Given the description of an element on the screen output the (x, y) to click on. 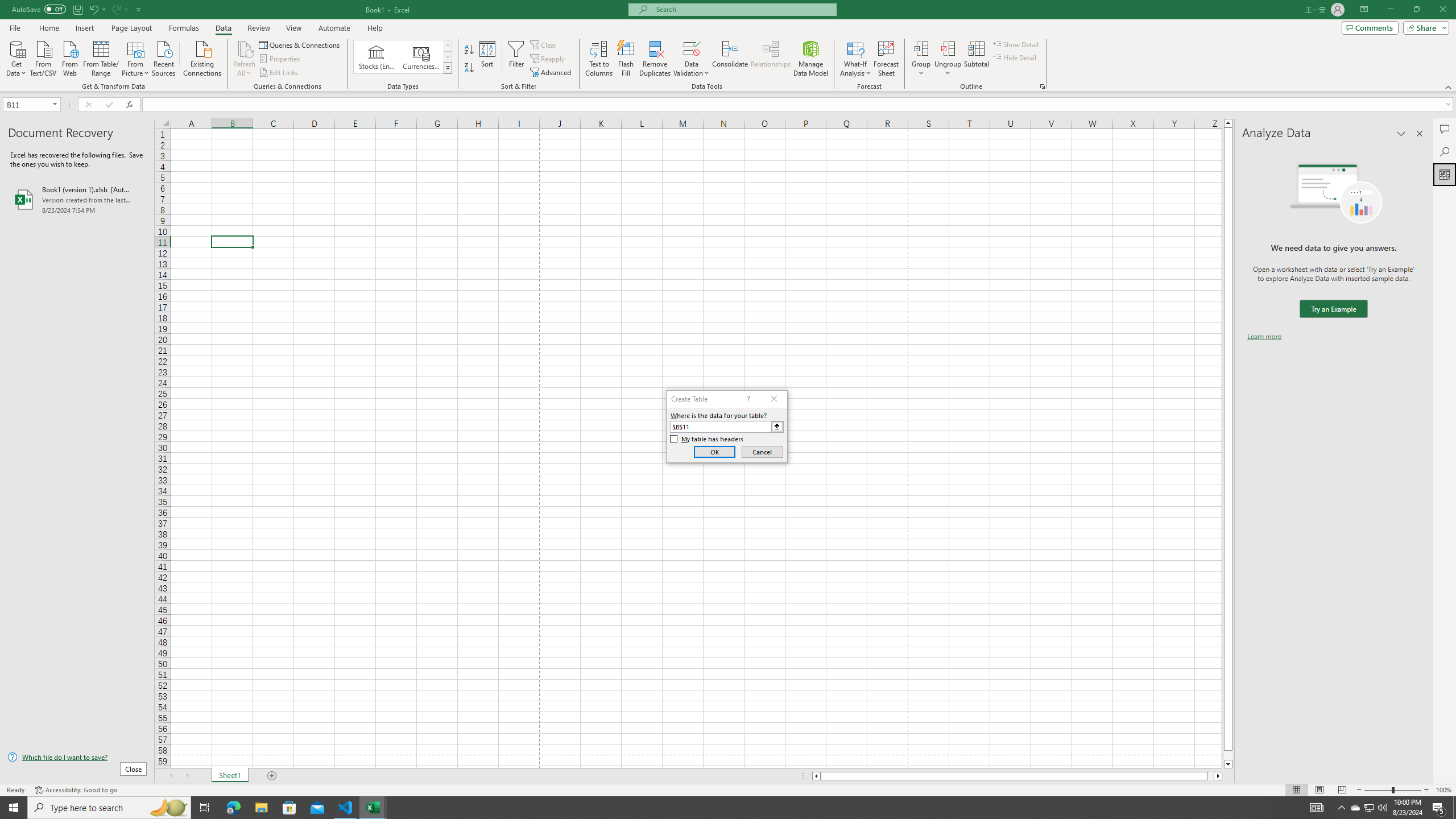
Reapply (548, 58)
Task Pane Options (1400, 133)
Page Layout (1318, 790)
Stocks (English) (375, 56)
Learn more (1264, 336)
Comments (1444, 128)
Home (48, 28)
Refresh All (244, 58)
Restore Down (1416, 9)
Close pane (1419, 133)
Formulas (184, 28)
We need data to give you answers. Try an Example (1333, 308)
Book1 (version 1).xlsb  [AutoRecovered] (77, 199)
Refresh All (244, 48)
